Given the description of an element on the screen output the (x, y) to click on. 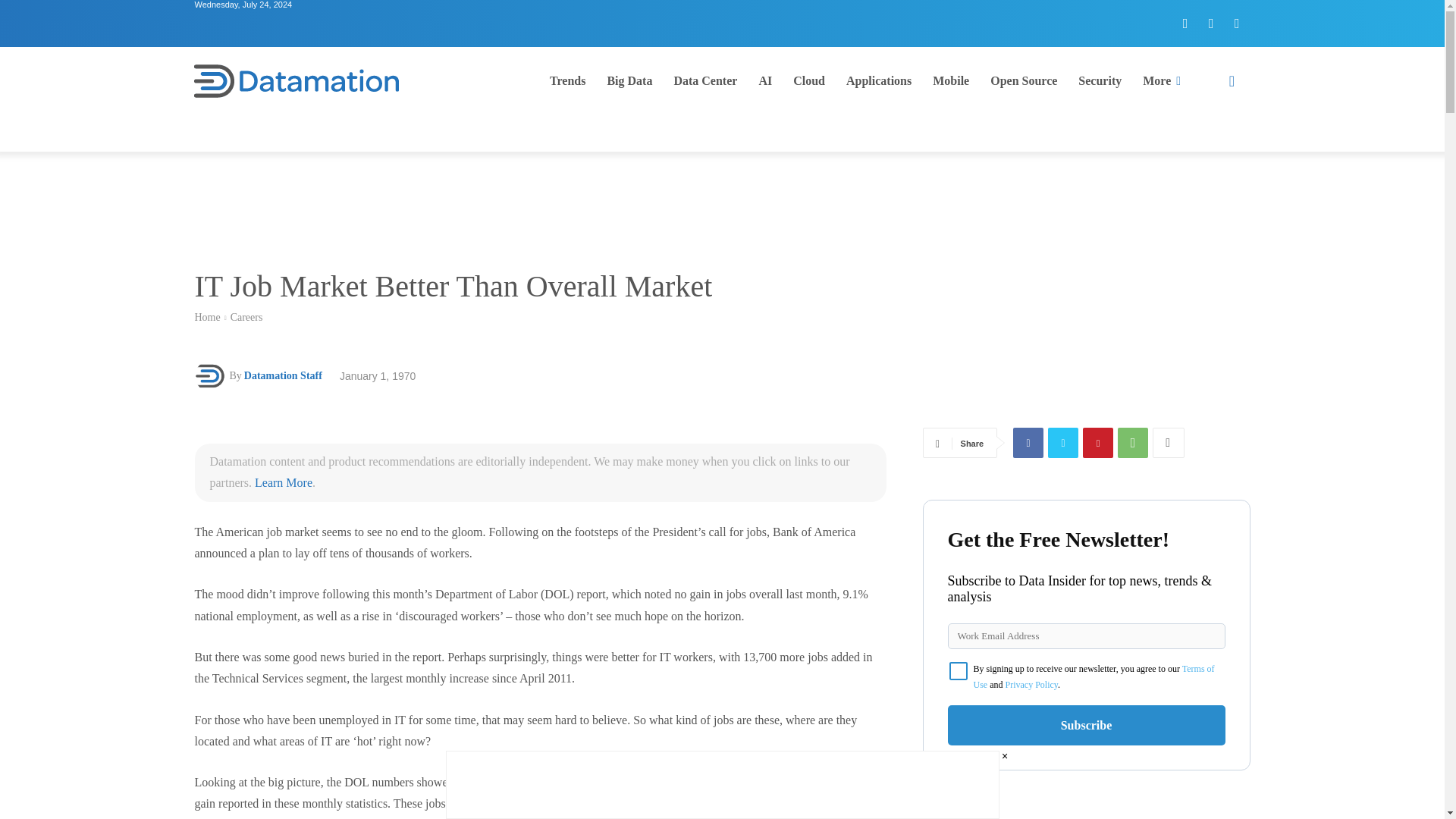
Datamation Staff (282, 375)
Learn More (283, 481)
Twitter (1211, 23)
Youtube (1236, 23)
Applications (878, 81)
AI (765, 81)
Big Data (628, 81)
Datamation Staff (210, 376)
Trends (566, 81)
Careers (246, 317)
Data Center (705, 81)
on (958, 670)
Security (1099, 81)
Facebook (1028, 442)
Mobile (950, 81)
